Given the description of an element on the screen output the (x, y) to click on. 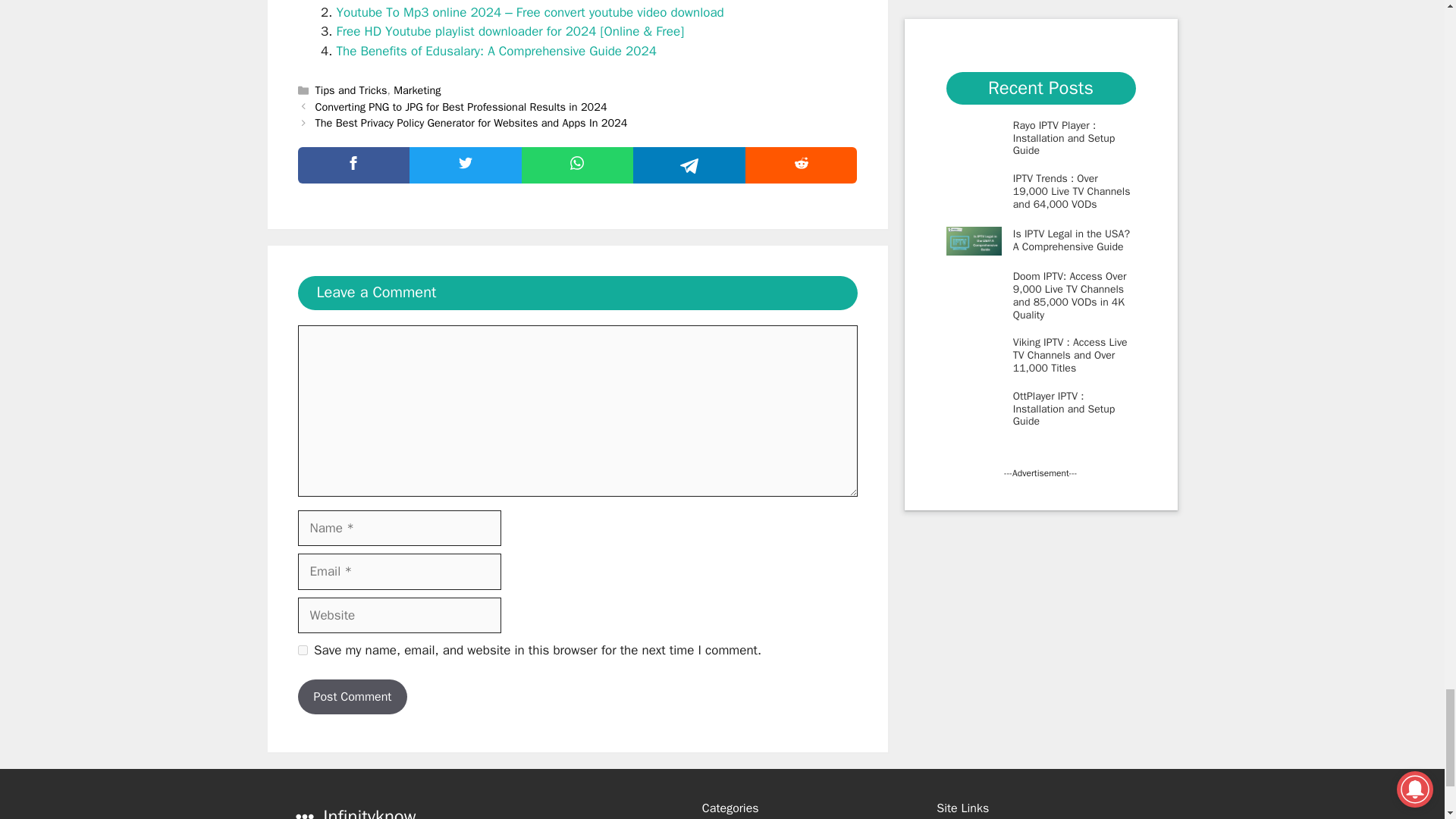
Post Comment (352, 696)
yes (302, 650)
The Benefits of Edusalary: A Comprehensive Guide 2024 (496, 50)
Tips and Tricks (351, 90)
Converting PNG to JPG for Best Professional Results in 2024 (461, 106)
Marketing (417, 90)
